Given the description of an element on the screen output the (x, y) to click on. 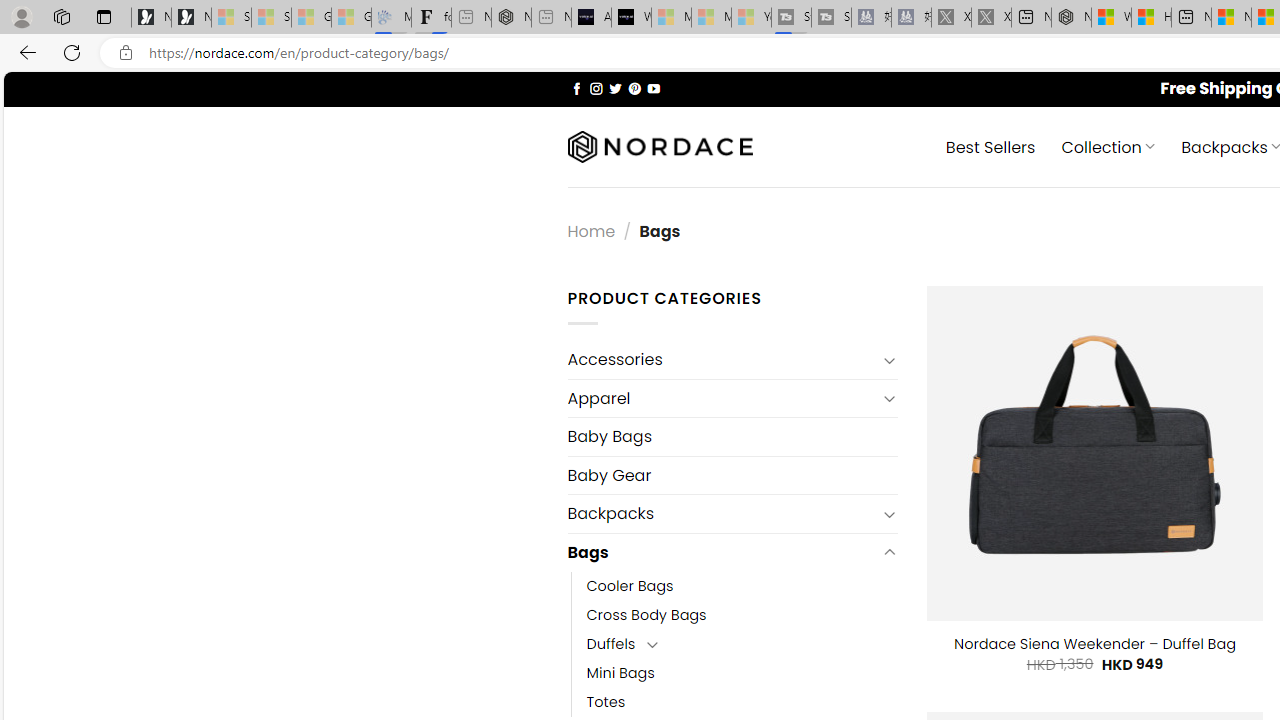
Follow on Twitter (615, 88)
X - Sleeping (991, 17)
Baby Gear (732, 475)
Accessories (721, 359)
Nordace - My Account (1071, 17)
